Given the description of an element on the screen output the (x, y) to click on. 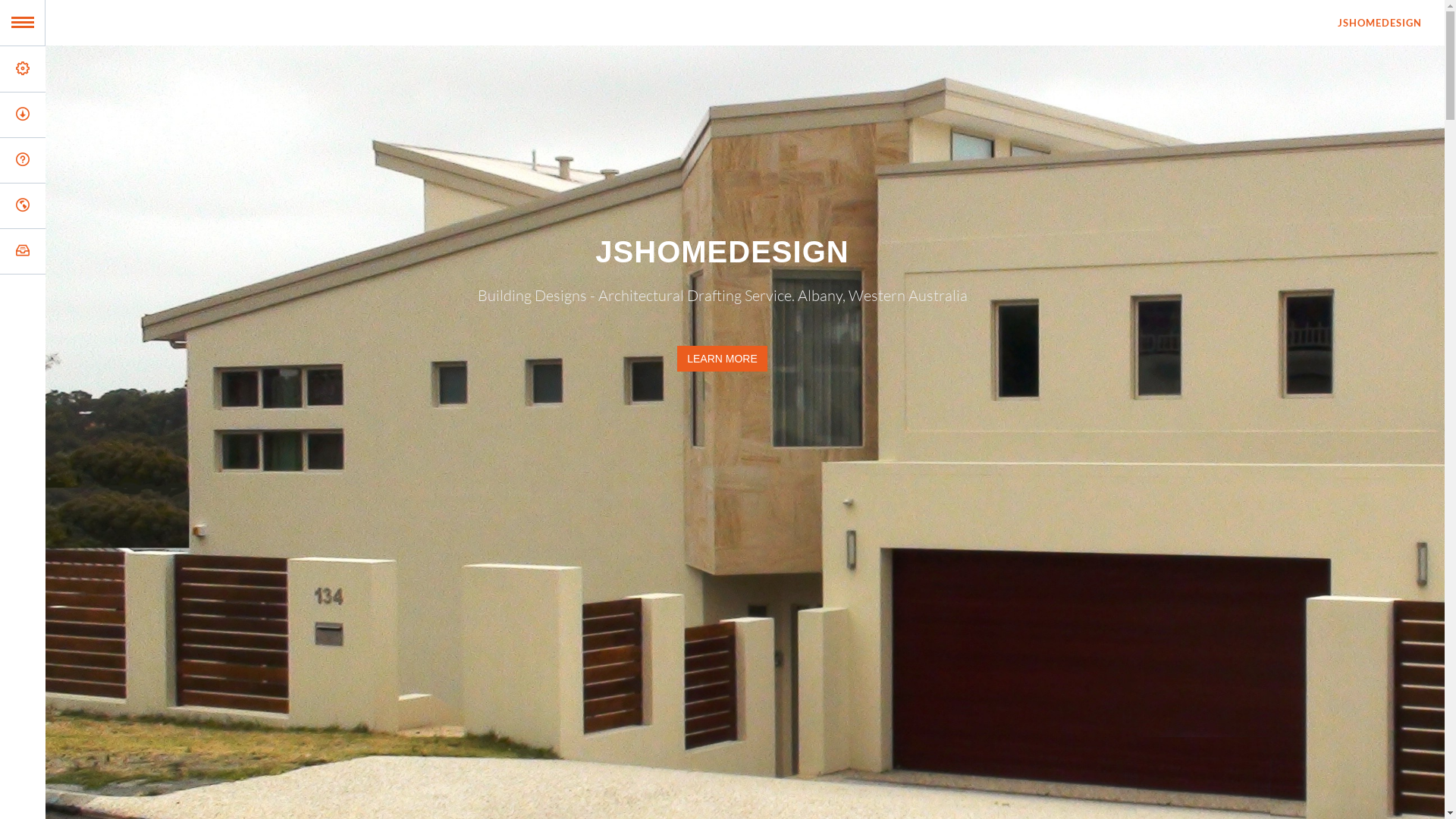
About Element type: text (134, 114)
Contact Element type: text (134, 250)
Works Element type: text (134, 159)
JSHOMEDESIGN Element type: text (1379, 22)
Weblog Element type: text (134, 205)
LEARN MORE Element type: text (722, 358)
Services Element type: text (134, 68)
